Given the description of an element on the screen output the (x, y) to click on. 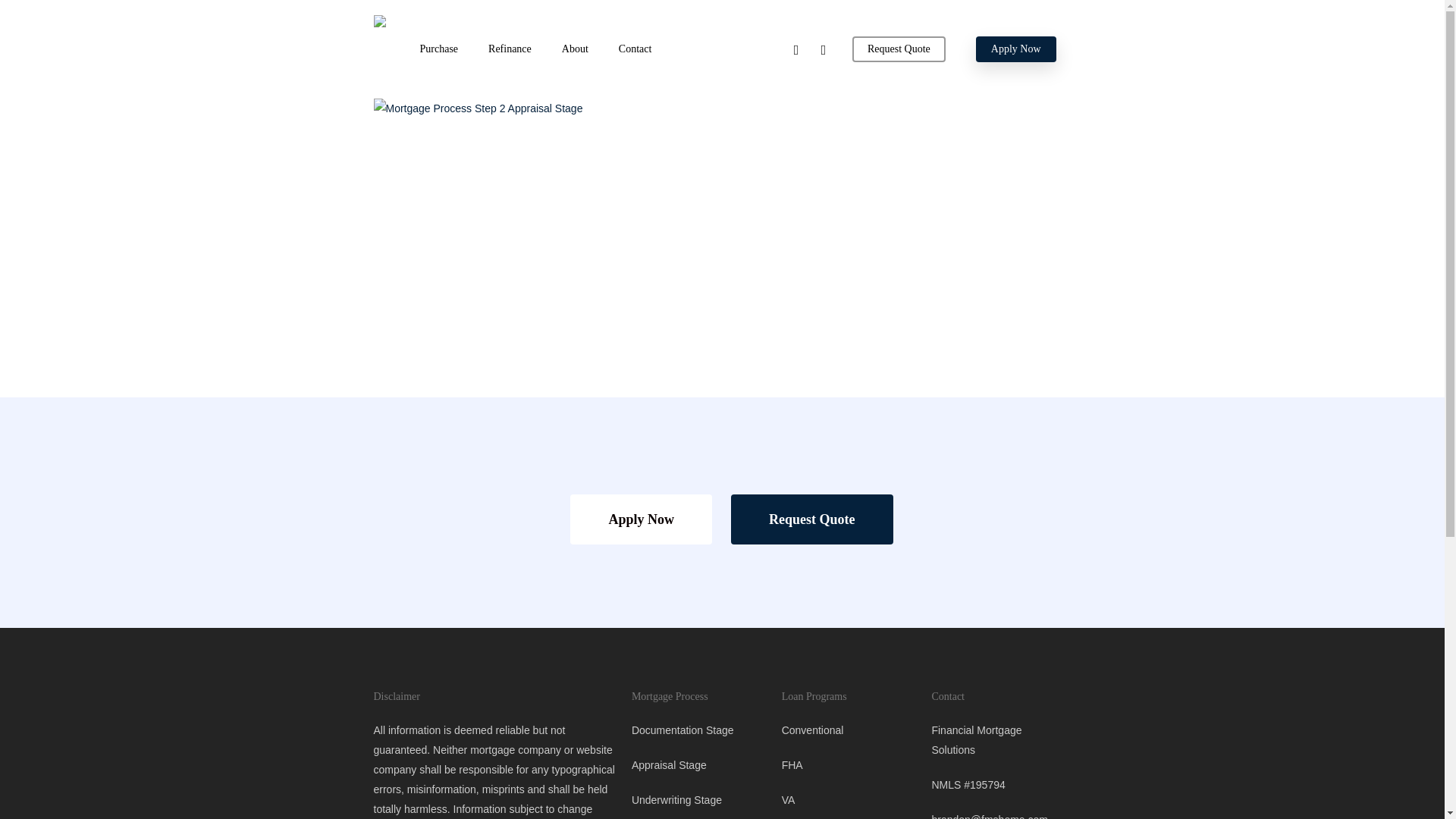
email (823, 49)
Apply Now (640, 519)
Apply Now (1016, 48)
Contact (635, 48)
Request Quote (811, 519)
phone (796, 49)
Request Quote (897, 48)
Refinance (510, 48)
Purchase (439, 48)
About (575, 48)
